Given the description of an element on the screen output the (x, y) to click on. 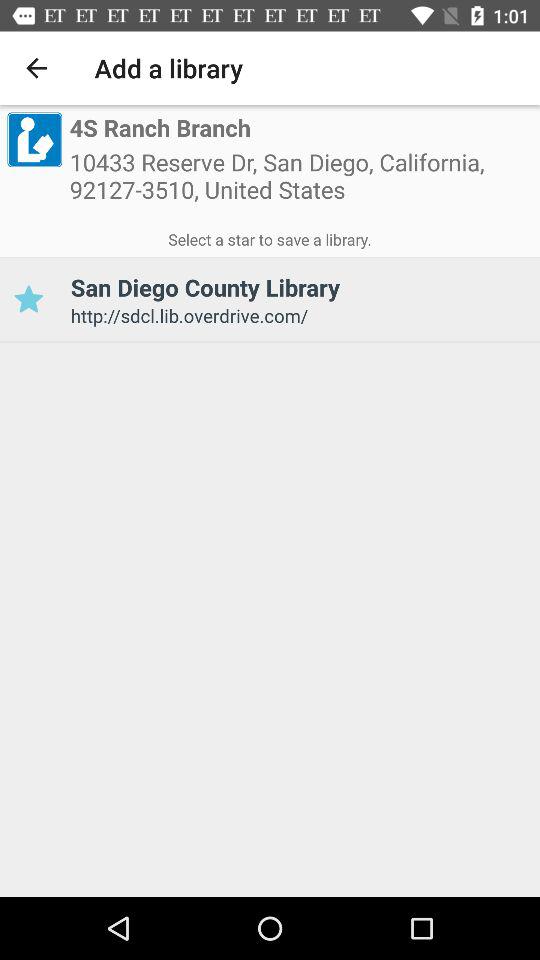
favorite (28, 299)
